Given the description of an element on the screen output the (x, y) to click on. 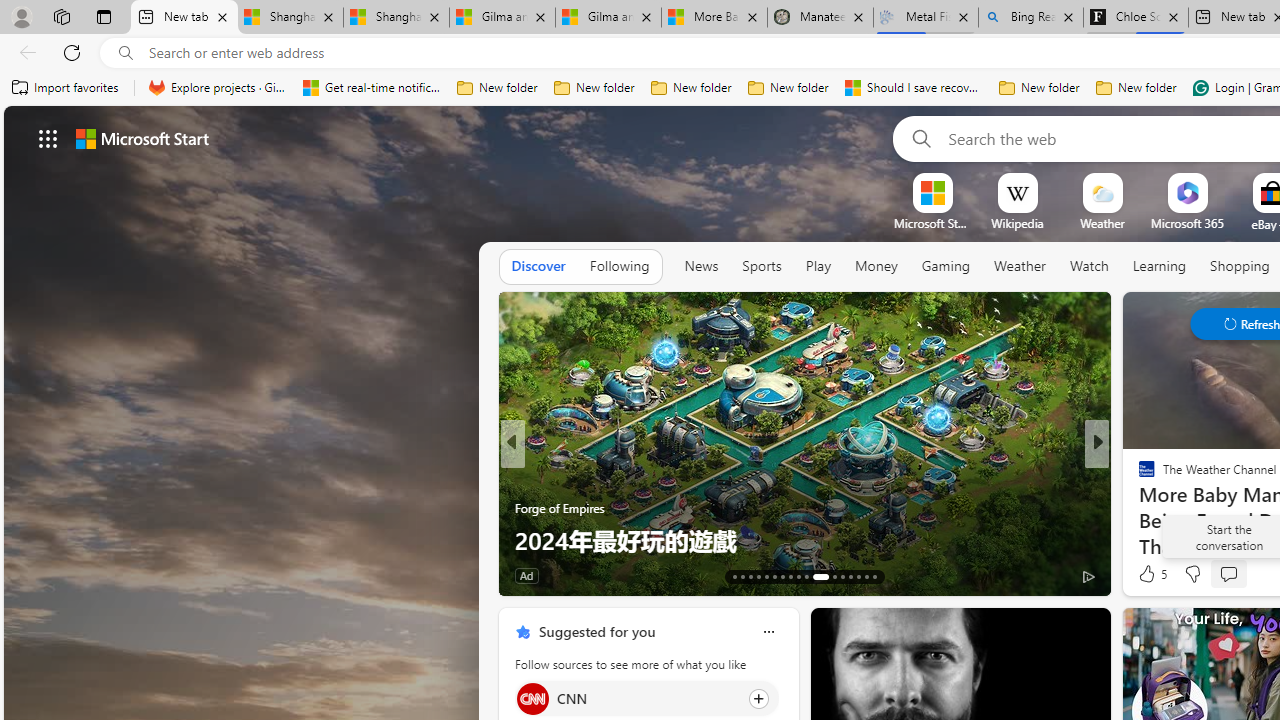
Money (876, 267)
Nordace.com (1165, 507)
Chloe Sorvino (1135, 17)
AutomationID: tab-24 (833, 576)
Wikipedia (1017, 223)
Weather (1019, 267)
5 Like (1151, 574)
Forge of Empires (559, 507)
AutomationID: tab-39 (850, 576)
Money (875, 265)
View comments 19 Comment (1234, 575)
View comments 58 Comment (11, 575)
